Given the description of an element on the screen output the (x, y) to click on. 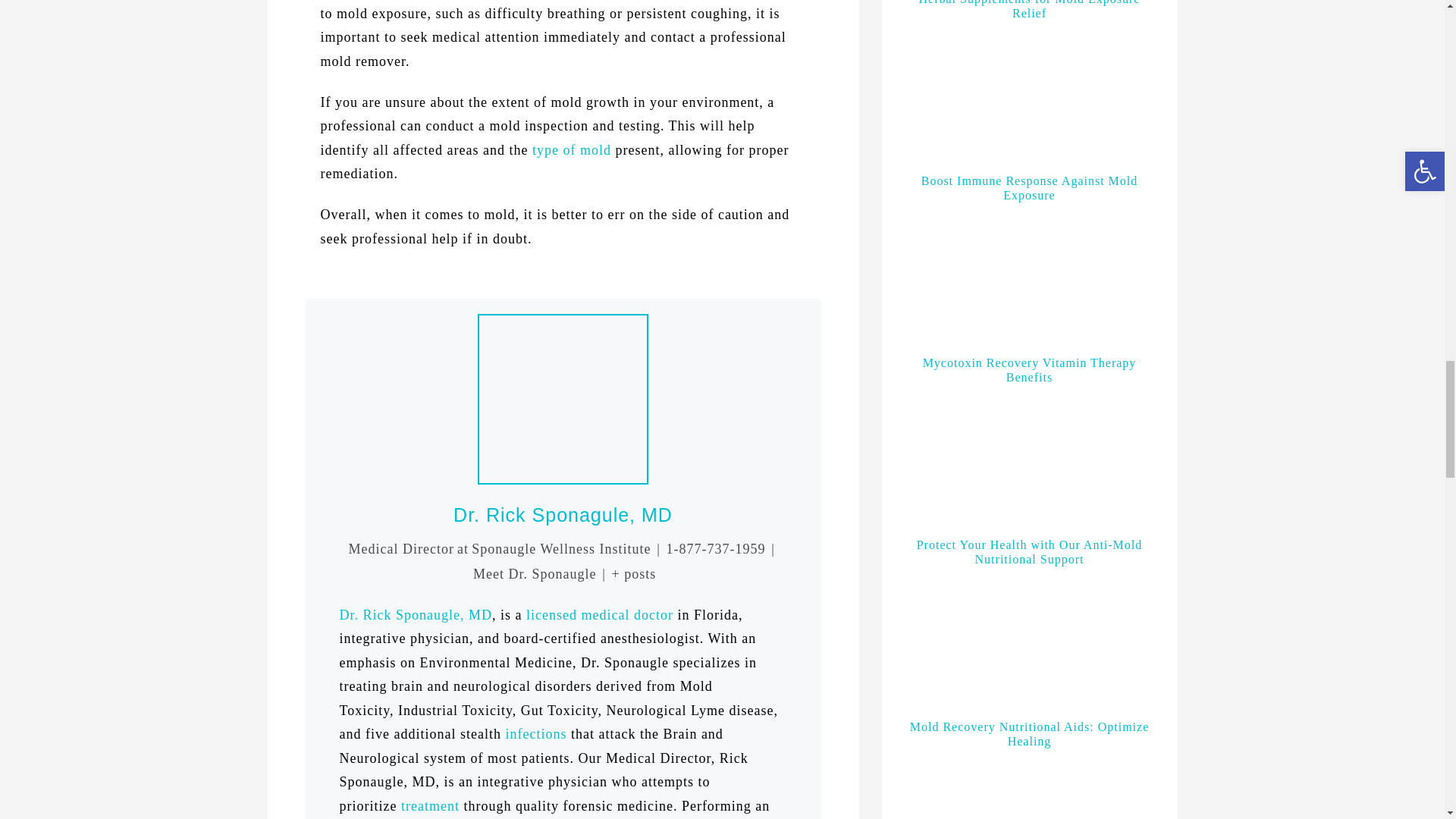
infections (535, 734)
Types of Mold (571, 150)
CIRS Treatment (430, 806)
